Given the description of an element on the screen output the (x, y) to click on. 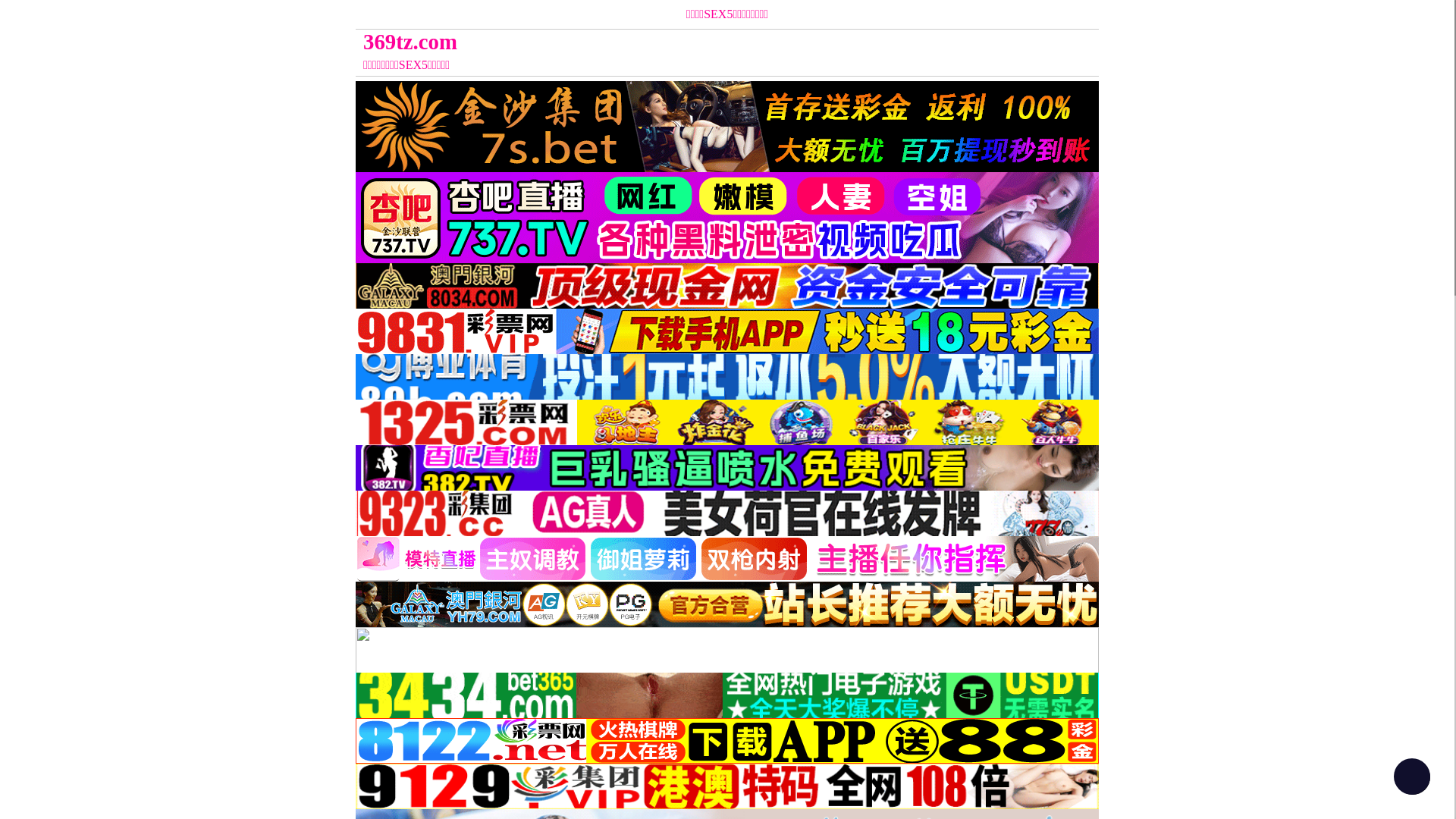
369tz.com Element type: text (634, 41)
